Given the description of an element on the screen output the (x, y) to click on. 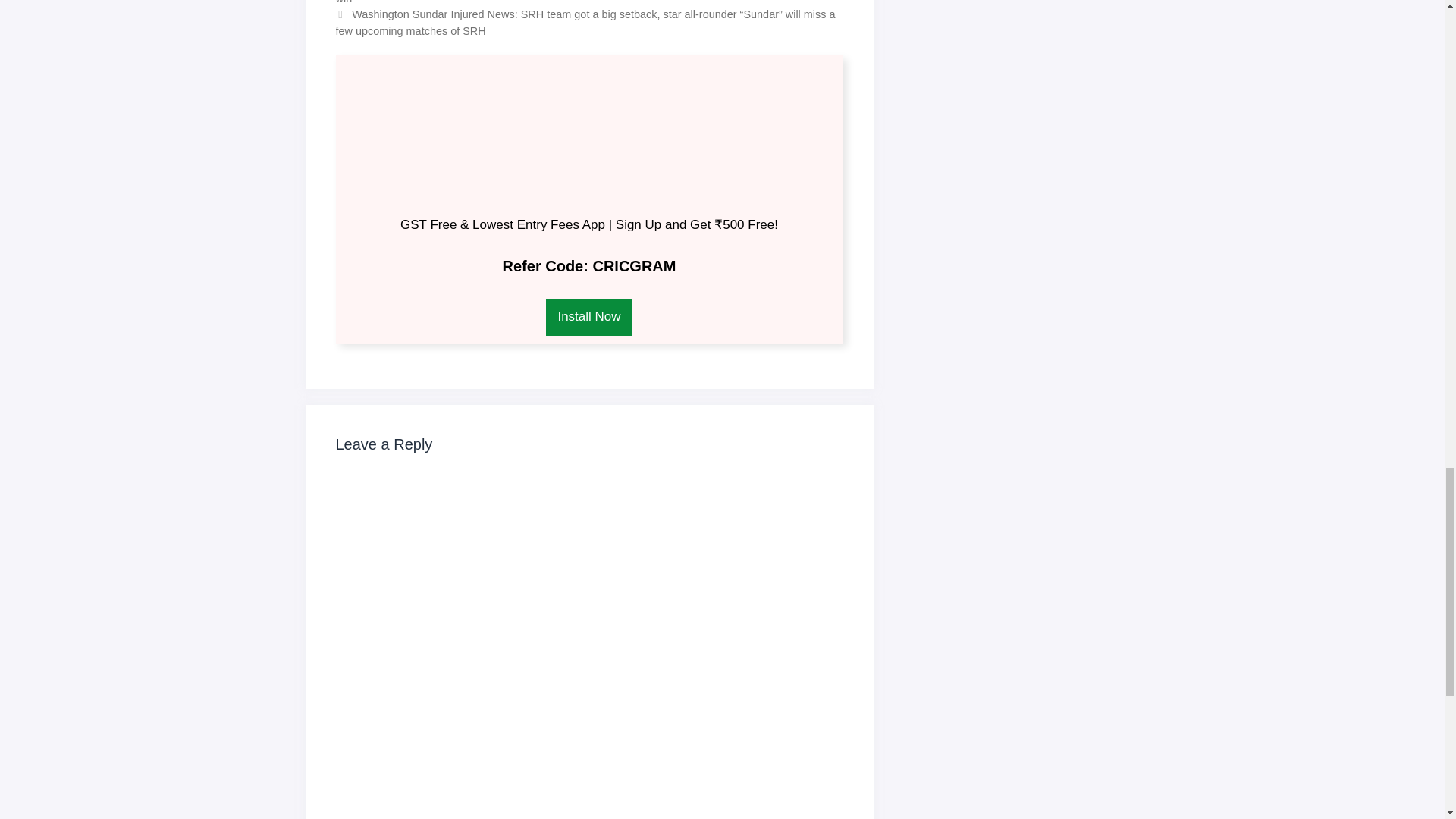
Install Now (588, 316)
